Given the description of an element on the screen output the (x, y) to click on. 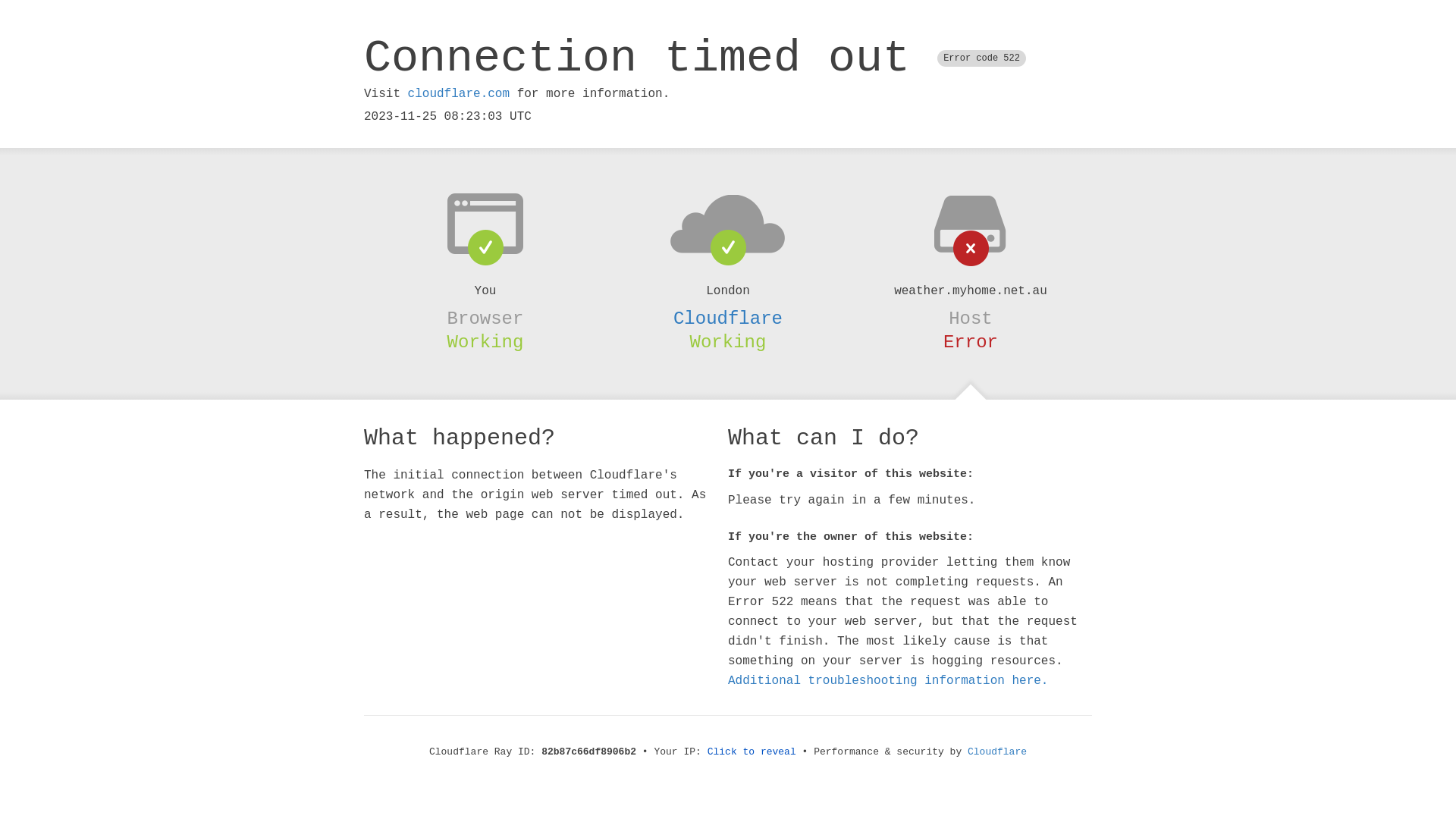
Cloudflare Element type: text (727, 318)
cloudflare.com Element type: text (458, 93)
Cloudflare Element type: text (996, 751)
Click to reveal Element type: text (751, 751)
Additional troubleshooting information here. Element type: text (888, 680)
